Given the description of an element on the screen output the (x, y) to click on. 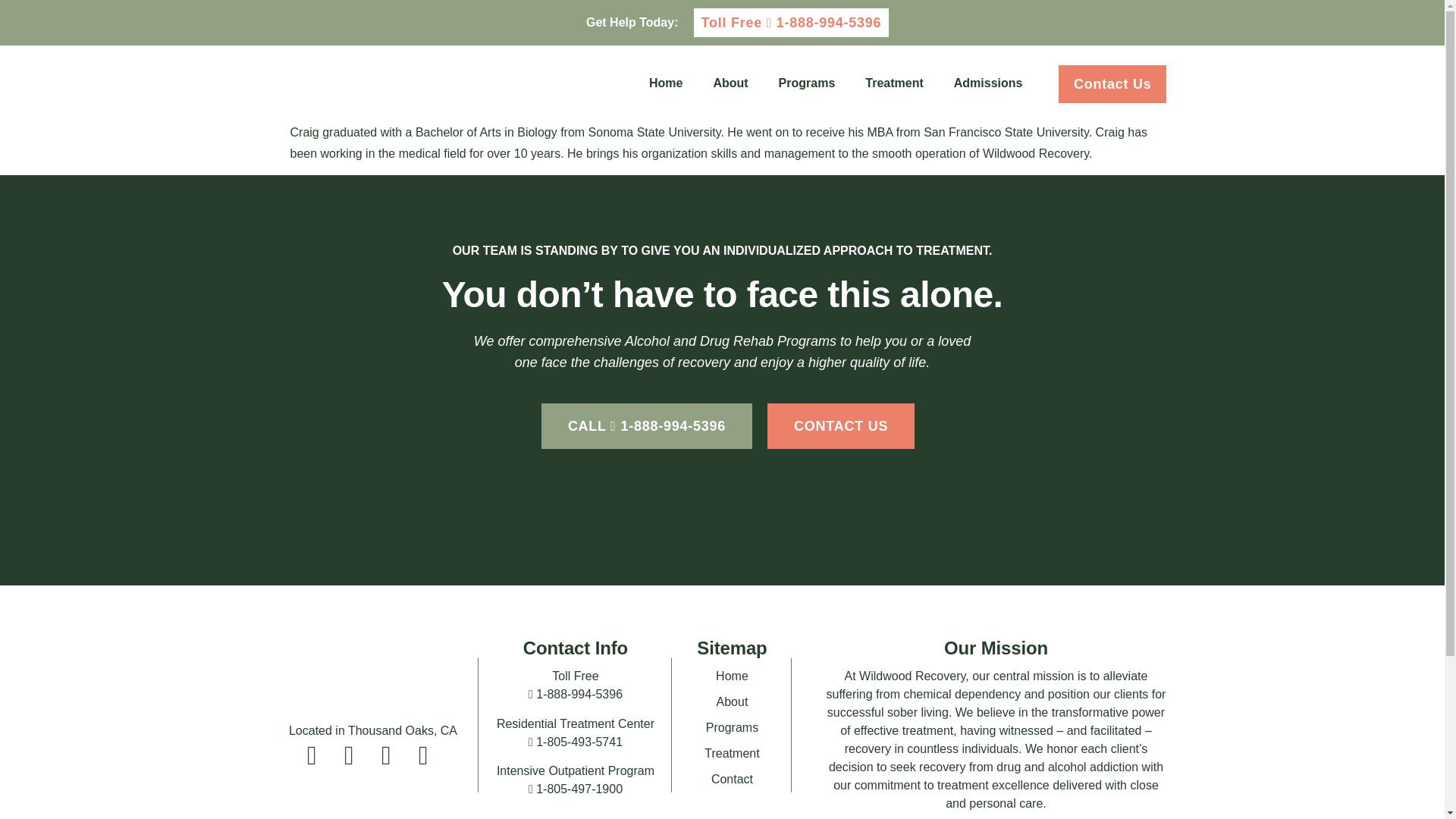
Admissions (988, 83)
About (729, 83)
Toll Free 1-888-994-5396 (790, 22)
Home (665, 83)
Programs (806, 83)
Treatment (893, 83)
